Given the description of an element on the screen output the (x, y) to click on. 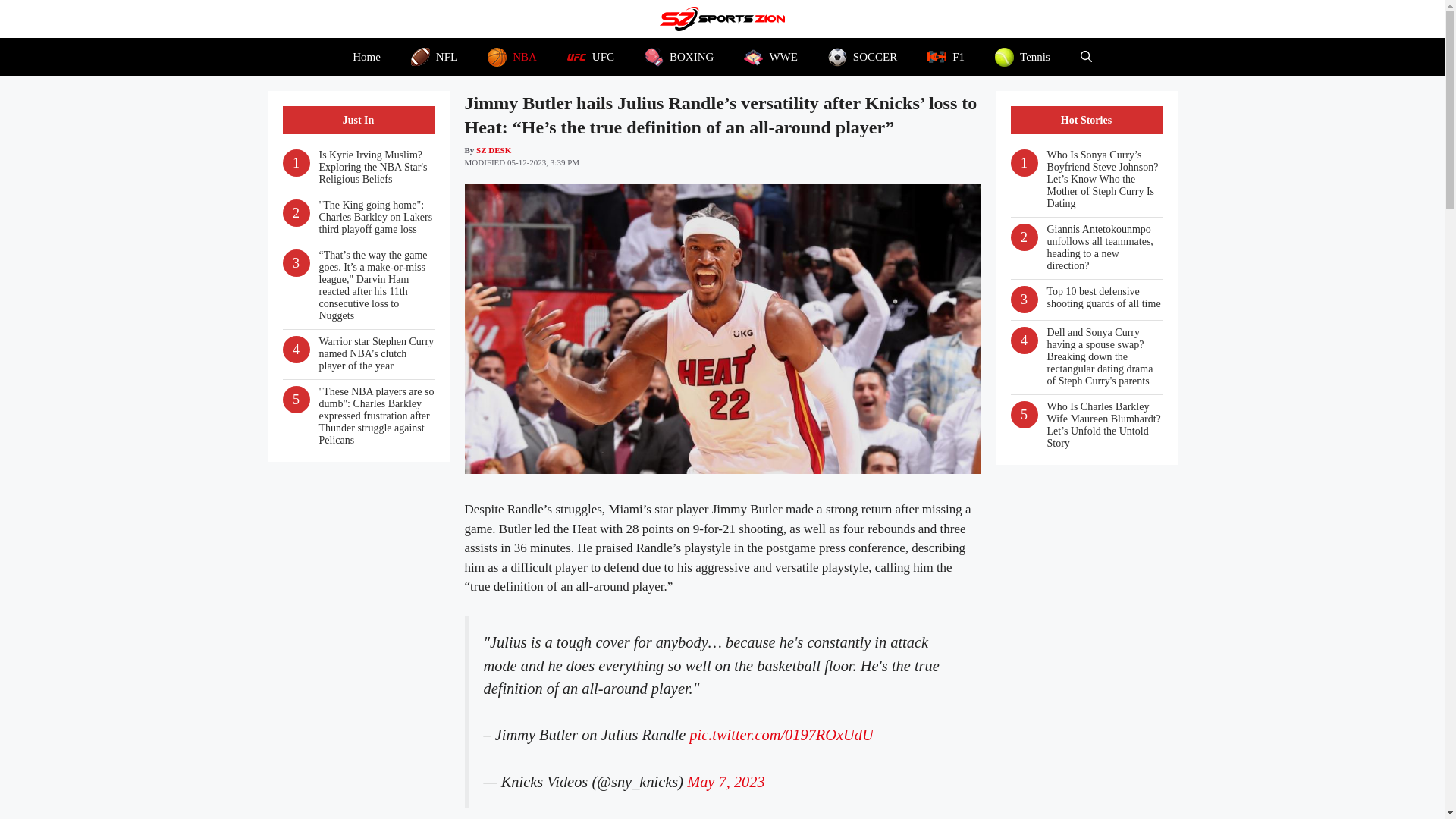
Home (366, 56)
UFC (589, 56)
View all posts by SZ Desk (493, 149)
May 7, 2023 (726, 781)
SZ DESK (493, 149)
Tennis (1022, 56)
SOCCER (862, 56)
F1 (945, 56)
NFL (433, 56)
BOXING (678, 56)
